Given the description of an element on the screen output the (x, y) to click on. 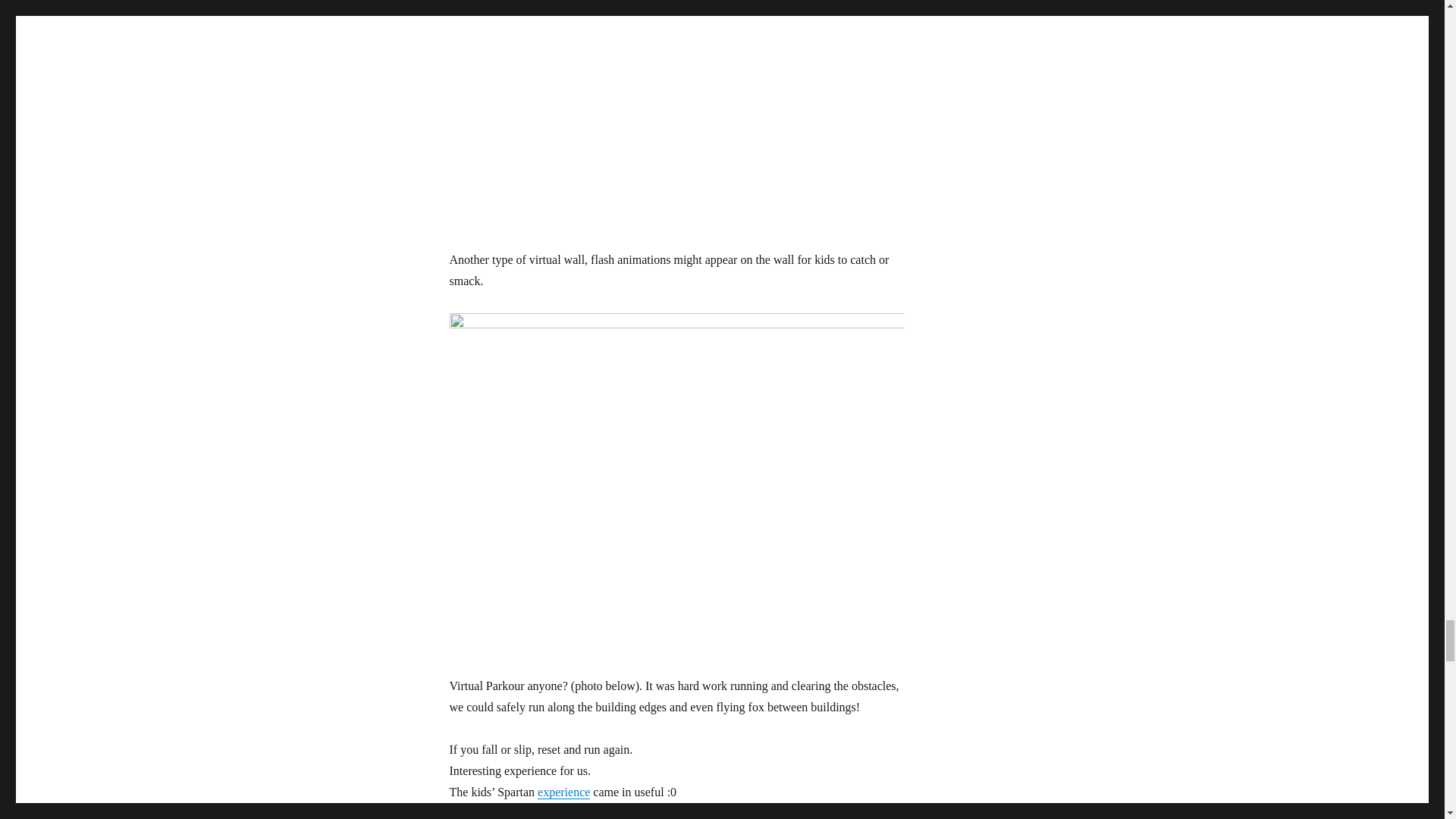
experience (563, 791)
